Given the description of an element on the screen output the (x, y) to click on. 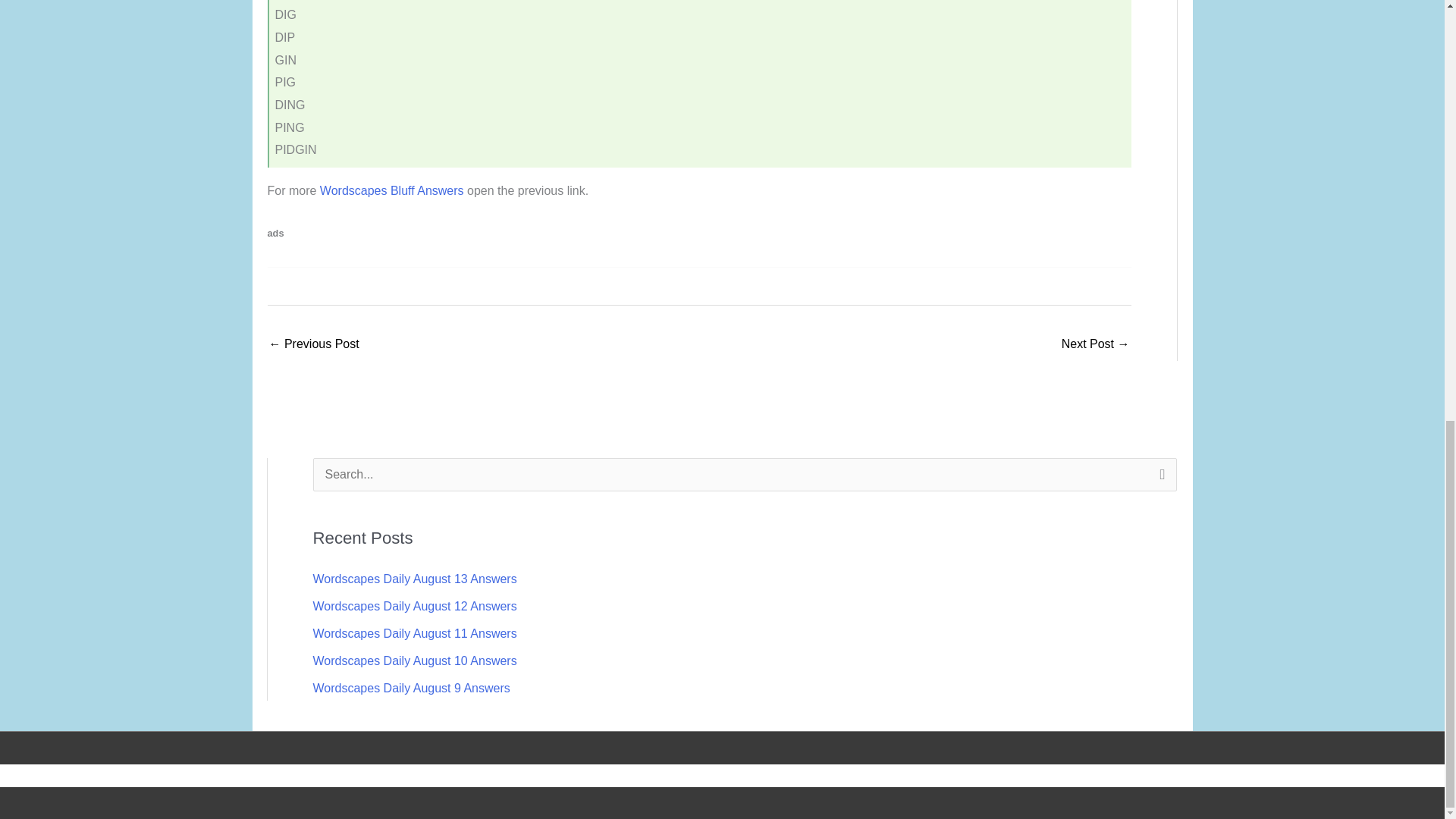
Wordscapes Bluff Answers (392, 190)
Wordscapes Daily August 13 Answers (414, 578)
Wordscapes 5737 Answers Bluff Flock 9 (312, 345)
Wordscapes Daily August 11 Answers (414, 633)
Wordscapes Daily August 9 Answers (411, 687)
Wordscapes Daily August 10 Answers (414, 660)
Wordscapes 5751 Answers Bluff Vista 7 (1095, 345)
Wordscapes Daily August 12 Answers (414, 605)
